Given the description of an element on the screen output the (x, y) to click on. 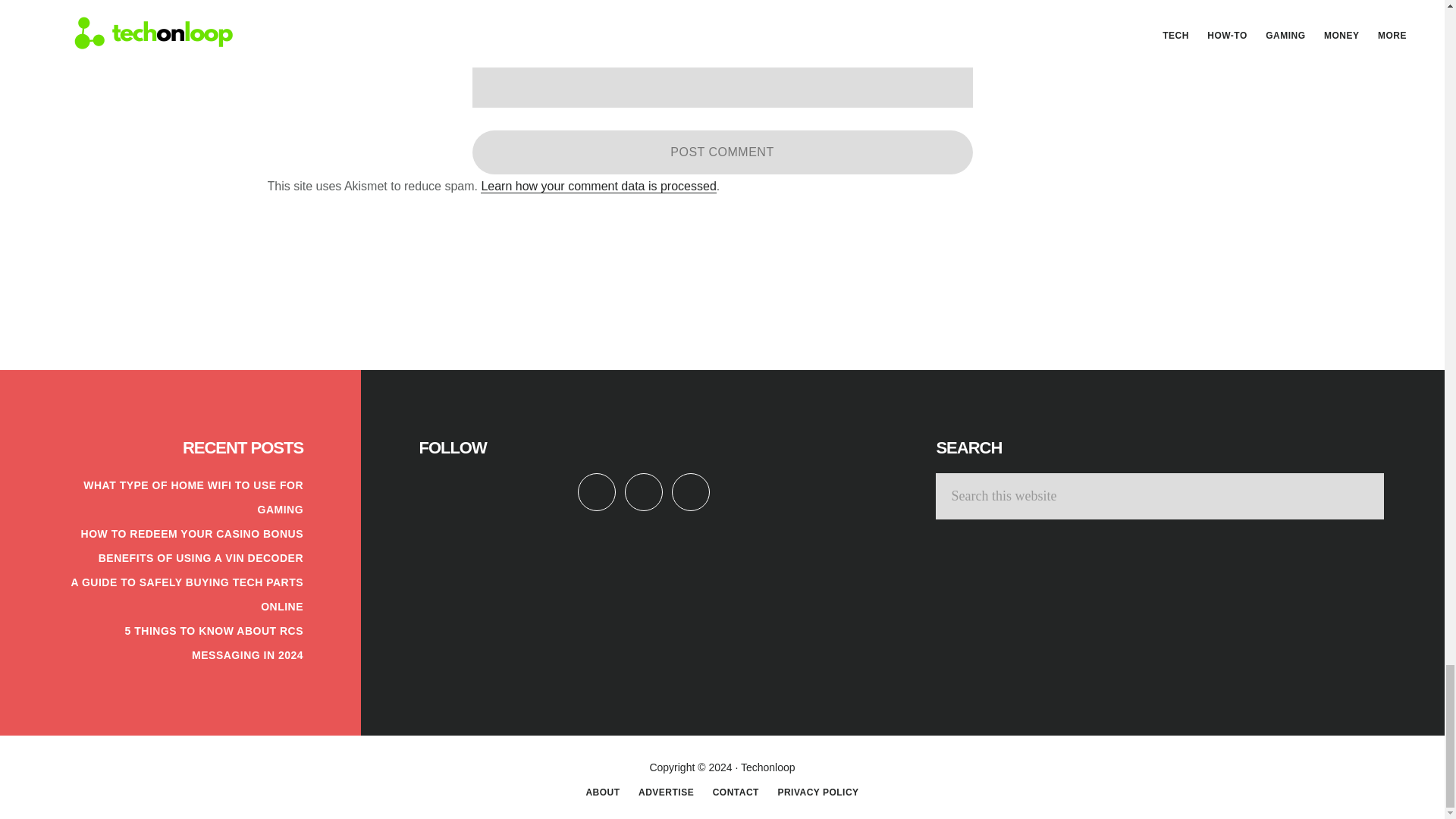
ADVERTISE (666, 791)
A GUIDE TO SAFELY BUYING TECH PARTS ONLINE (185, 594)
HOW TO REDEEM YOUR CASINO BONUS (191, 533)
Post Comment (721, 152)
CONTACT (735, 791)
5 THINGS TO KNOW ABOUT RCS MESSAGING IN 2024 (213, 642)
WHAT TYPE OF HOME WIFI TO USE FOR GAMING (192, 497)
Post Comment (721, 152)
